Given the description of an element on the screen output the (x, y) to click on. 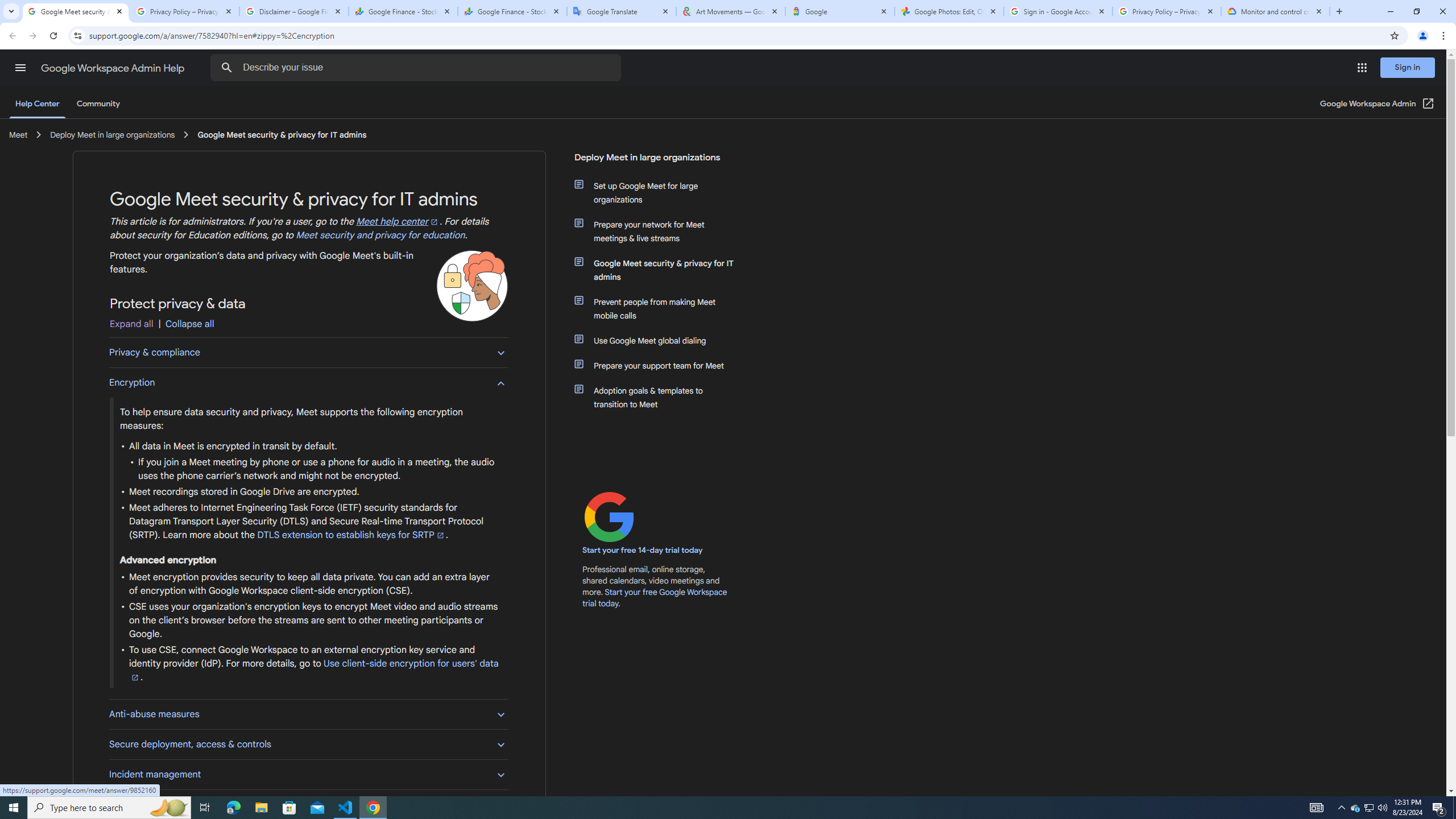
Meet  (17, 134)
Google (839, 11)
Meet security and privacy for education (380, 235)
Incident management (308, 774)
Anti-abuse measures (308, 713)
Set up Google Meet for large organizations (661, 192)
Use Google Meet global dialing (661, 340)
